Given the description of an element on the screen output the (x, y) to click on. 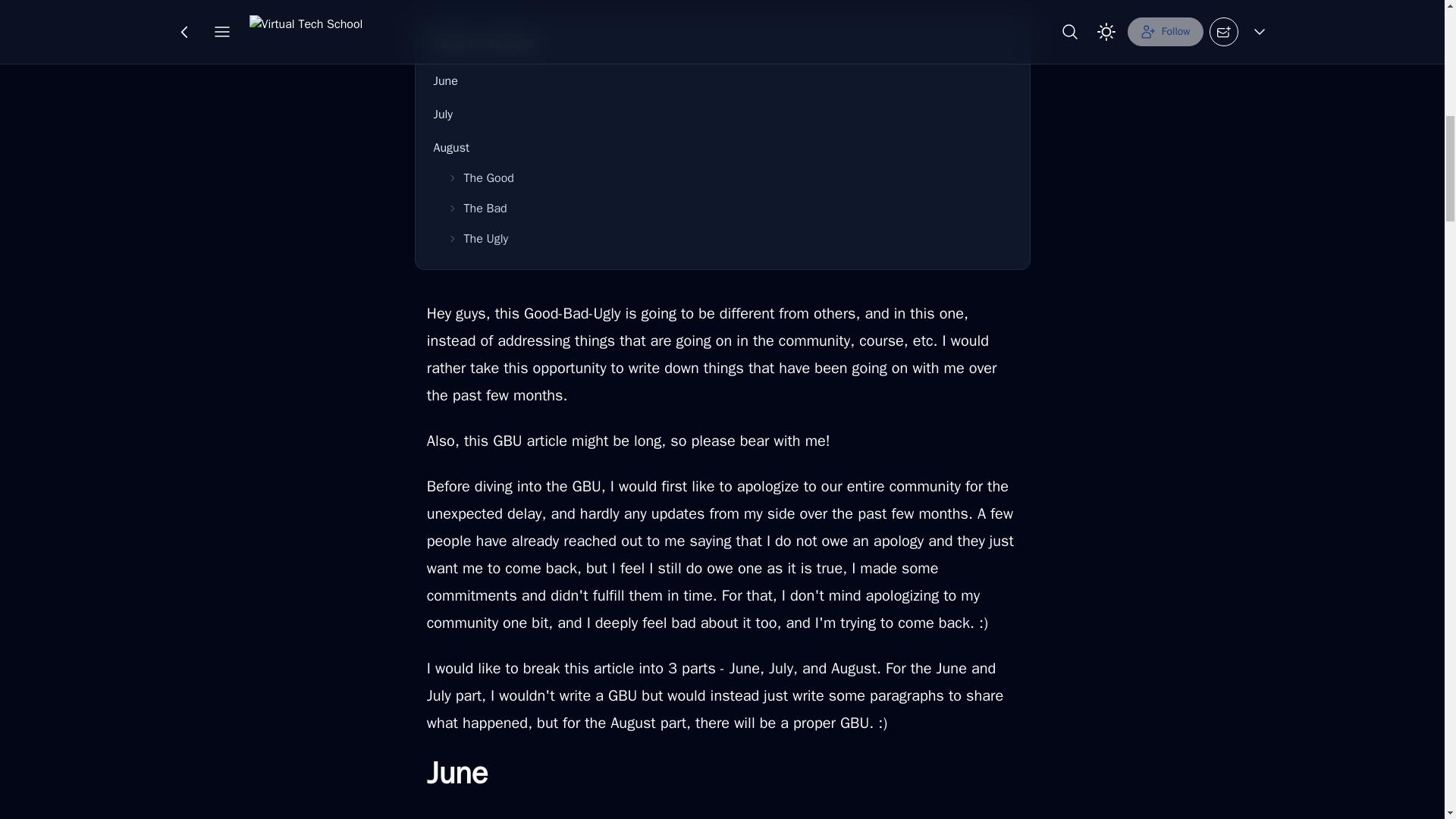
The Bad (728, 208)
August (722, 147)
July (722, 114)
The Ugly (728, 238)
2 (681, 24)
The Good (728, 177)
Add Bookmark (776, 24)
June (722, 81)
